Given the description of an element on the screen output the (x, y) to click on. 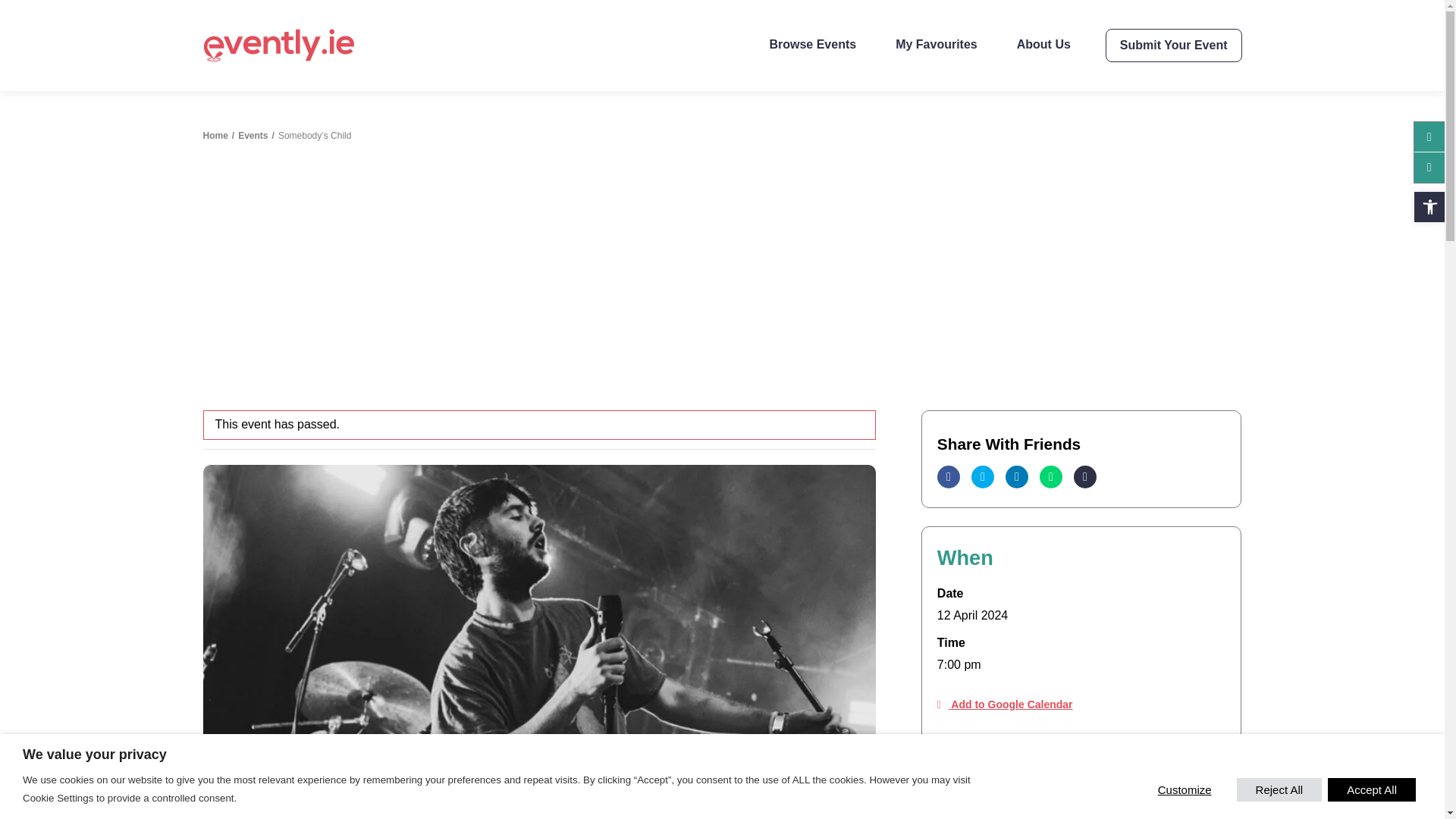
My Favourites (936, 44)
Home (215, 135)
Home (215, 135)
Events (252, 135)
Browse Events (812, 44)
Submit Your Event (1173, 45)
About Us (1043, 44)
Events (252, 135)
My Favourites (936, 44)
About Us (1043, 44)
Submit Your Event (1173, 45)
Browse Events (812, 44)
